Given the description of an element on the screen output the (x, y) to click on. 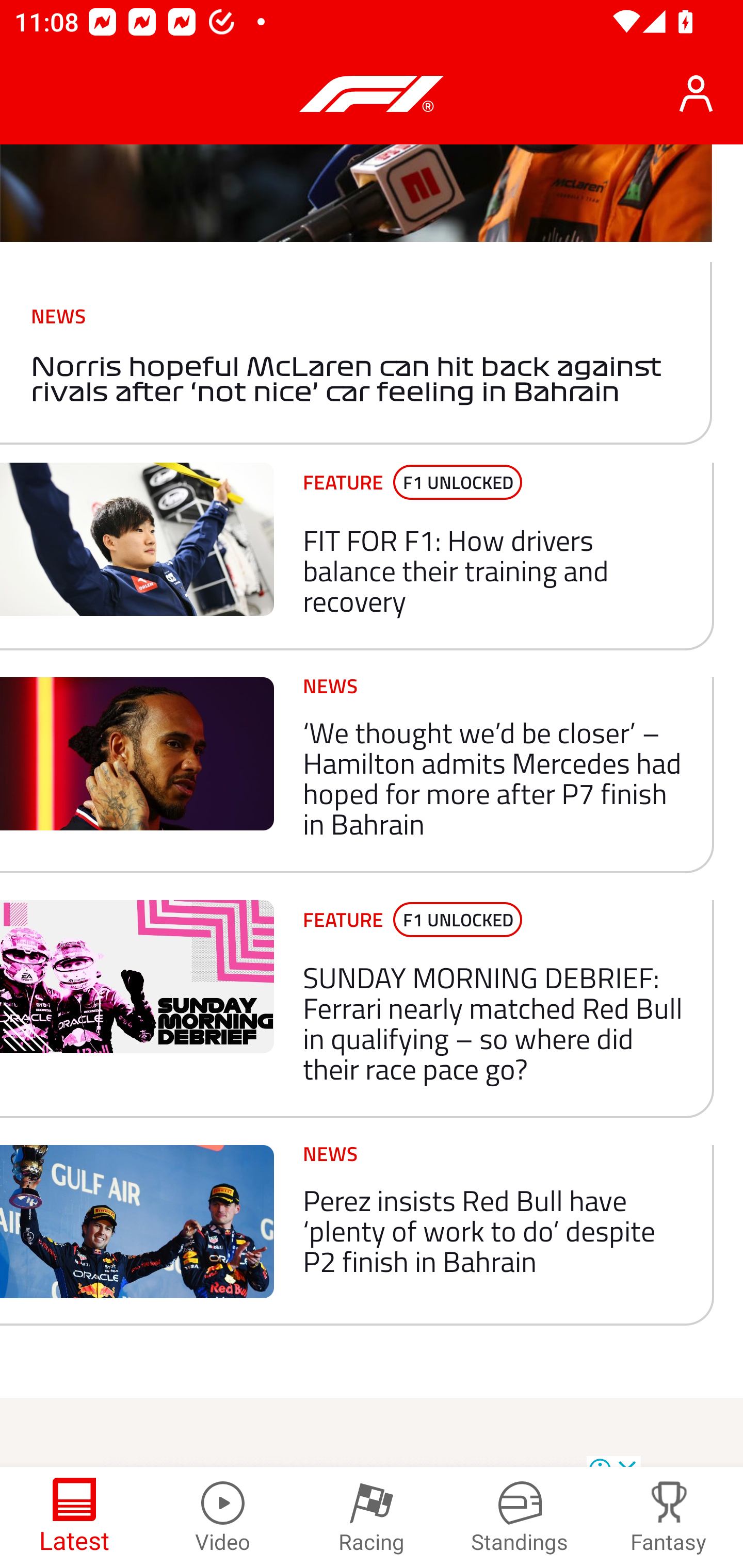
Video (222, 1517)
Racing (371, 1517)
Standings (519, 1517)
Fantasy (668, 1517)
